Given the description of an element on the screen output the (x, y) to click on. 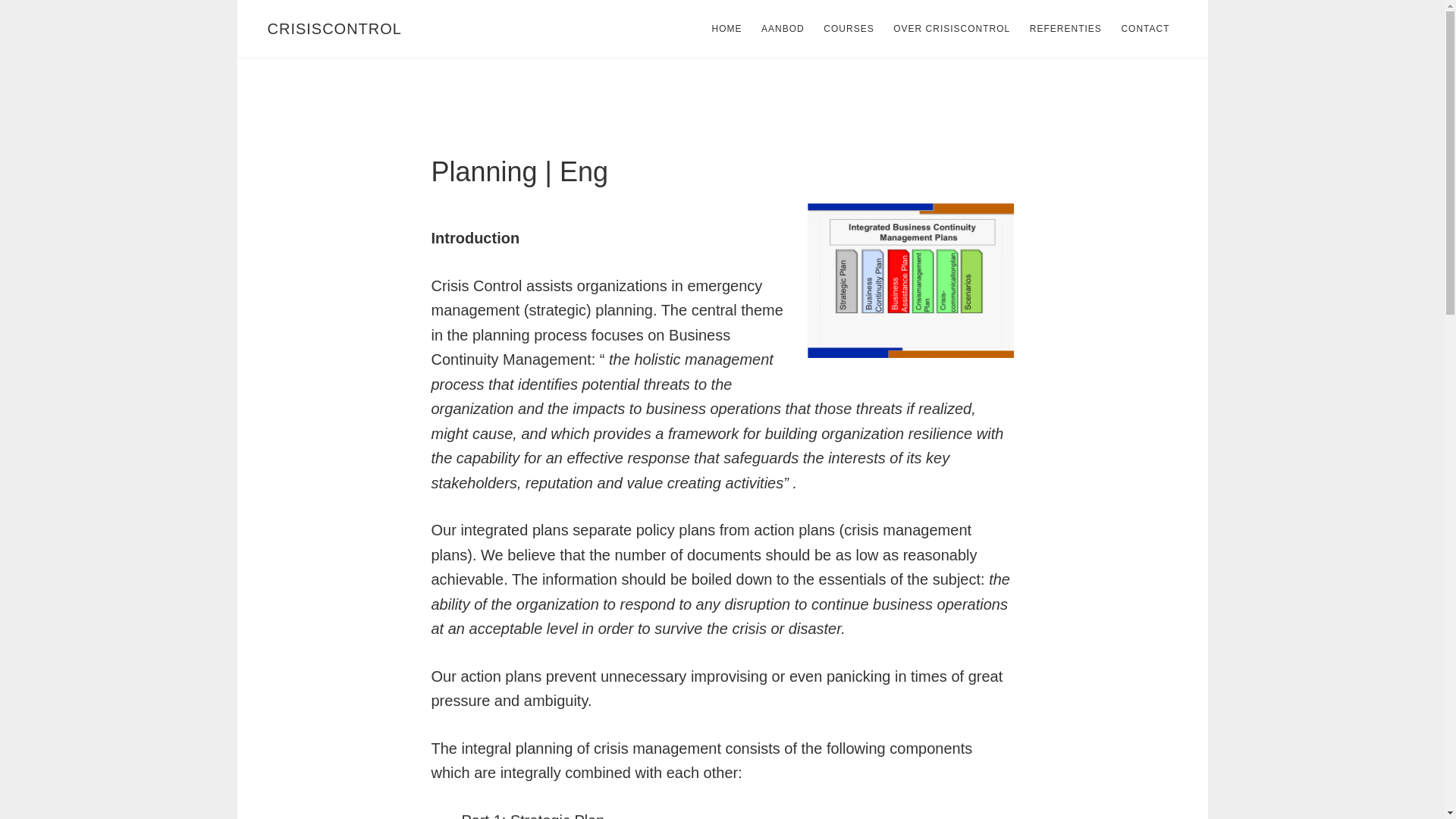
HOME (726, 28)
COURSES (847, 28)
OVER CRISISCONTROL (951, 28)
CRISISCONTROL (333, 28)
REFERENTIES (1065, 28)
AANBOD (783, 28)
